Given the description of an element on the screen output the (x, y) to click on. 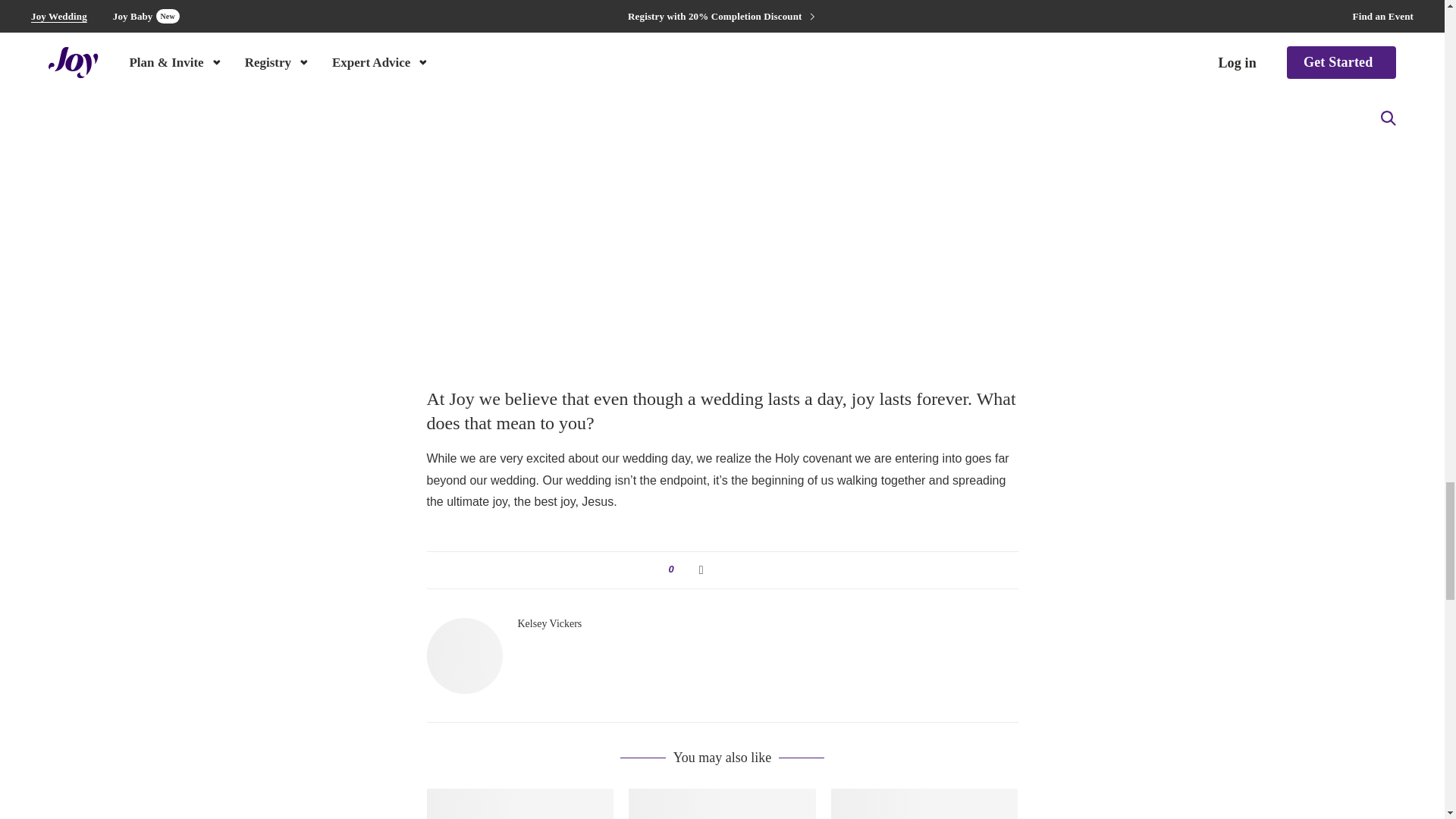
Joy Proposal Story: Pooja and Ajinkya (519, 803)
Author Kelsey Vickers (548, 623)
